Given the description of an element on the screen output the (x, y) to click on. 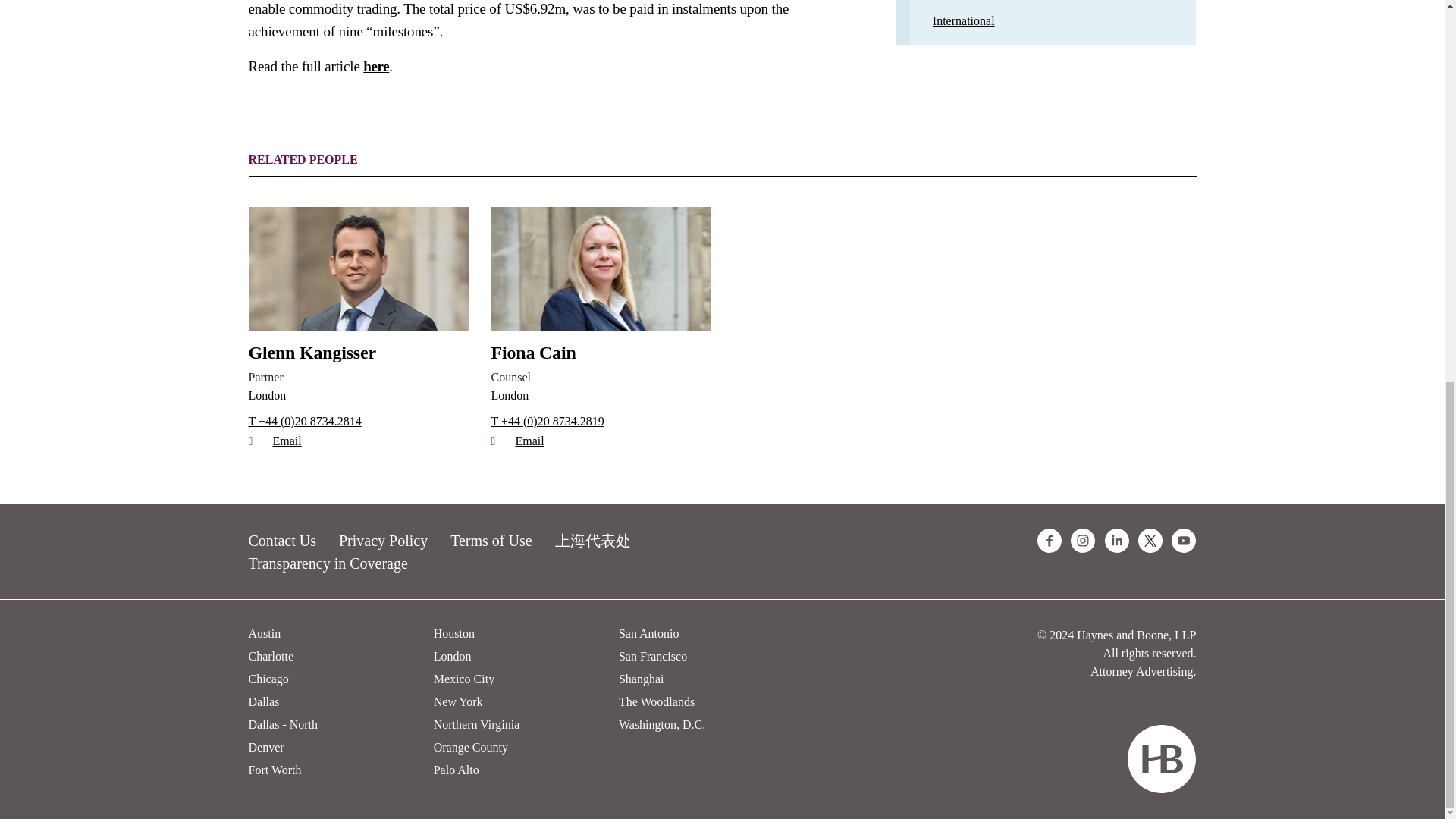
Combined Shape (1160, 758)
Contact Us (281, 540)
Email (358, 441)
Glenn Kangisser (358, 352)
people head shot (358, 268)
people head shot (601, 268)
Fiona Cain (601, 352)
Terms of Use (490, 540)
London (510, 395)
here (375, 66)
Email (601, 441)
Privacy Policy (383, 540)
London (267, 395)
Transparency in Coverage (327, 563)
Austin (264, 633)
